Given the description of an element on the screen output the (x, y) to click on. 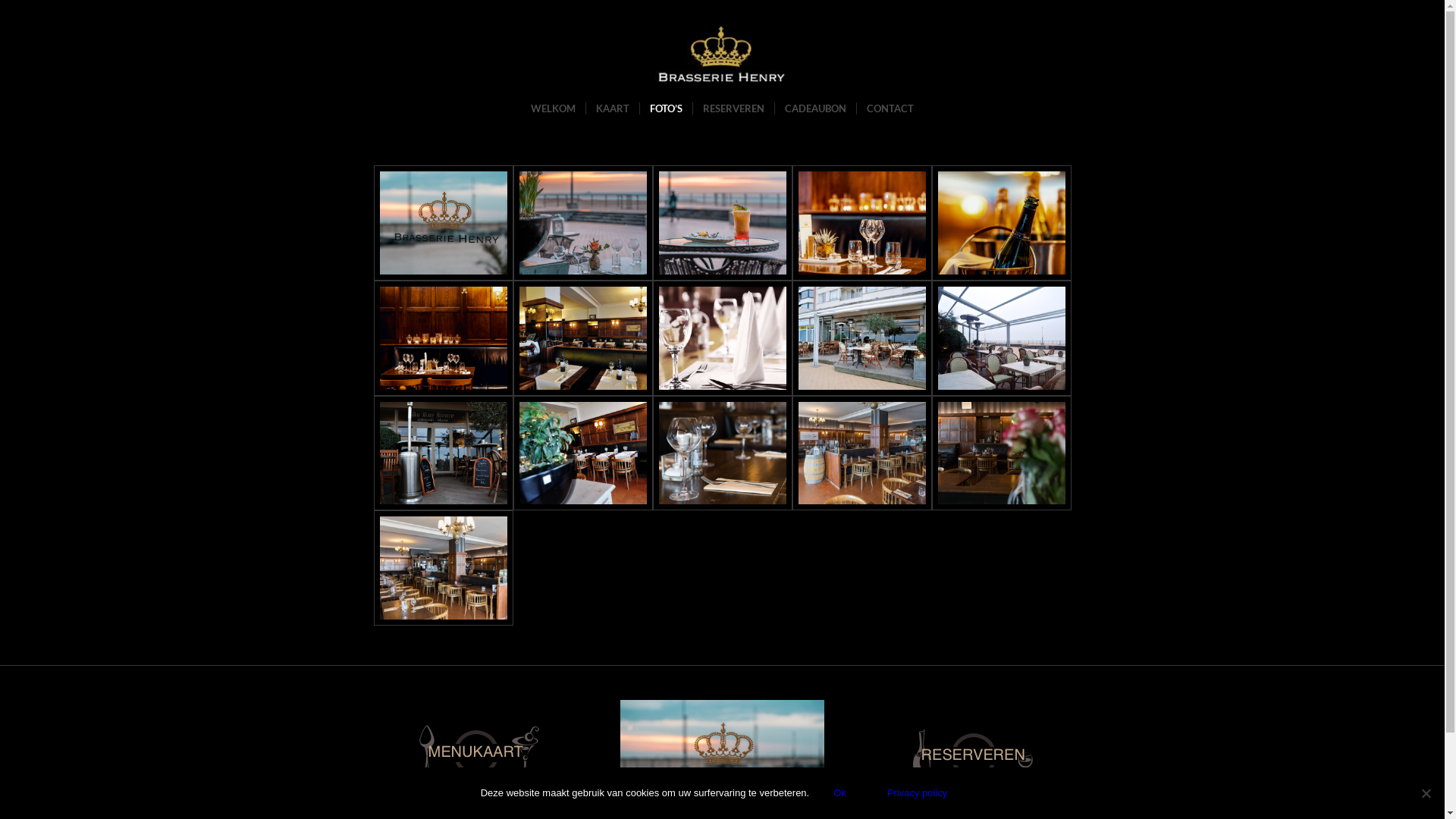
Brasserie Henry Element type: hover (442, 453)
Brasserie Henry Element type: hover (1000, 453)
KVF-13 Element type: hover (442, 222)
WELKOM Element type: text (552, 108)
Brasserie Henry Element type: hover (1000, 337)
Brasserie Henry Element type: hover (721, 337)
KAART Element type: text (612, 108)
Niet ok Element type: hover (1425, 792)
KVF-17 Element type: hover (582, 222)
Brasserie Henry Element type: hover (721, 453)
KVF-25 Element type: hover (861, 222)
CADEAUBON Element type: text (815, 108)
Brasserie Henry Element type: hover (442, 567)
KVF-27 Element type: hover (1000, 222)
KVF-18 Element type: hover (721, 222)
Brasserie Henry Element type: hover (582, 453)
Ok Element type: text (839, 792)
RESERVEREN Element type: text (733, 108)
Brasserie Henry Element type: hover (861, 453)
Brasserie Henry Element type: hover (861, 337)
Privacy policy Element type: text (916, 792)
CONTACT Element type: text (889, 108)
KVF-29 Element type: hover (442, 337)
Brasserie Henry Element type: hover (582, 337)
